Given the description of an element on the screen output the (x, y) to click on. 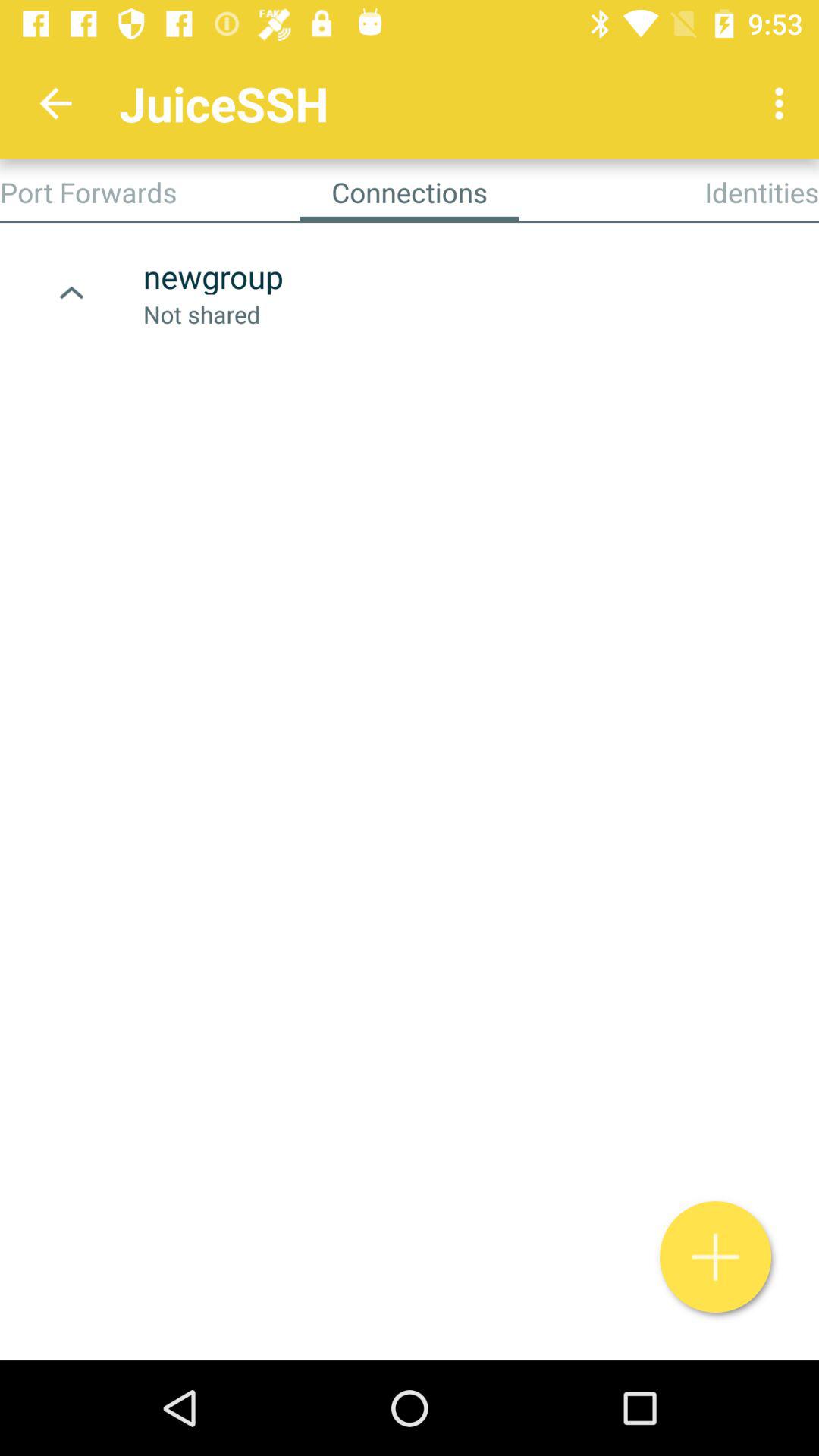
select app next to the connections item (88, 192)
